Given the description of an element on the screen output the (x, y) to click on. 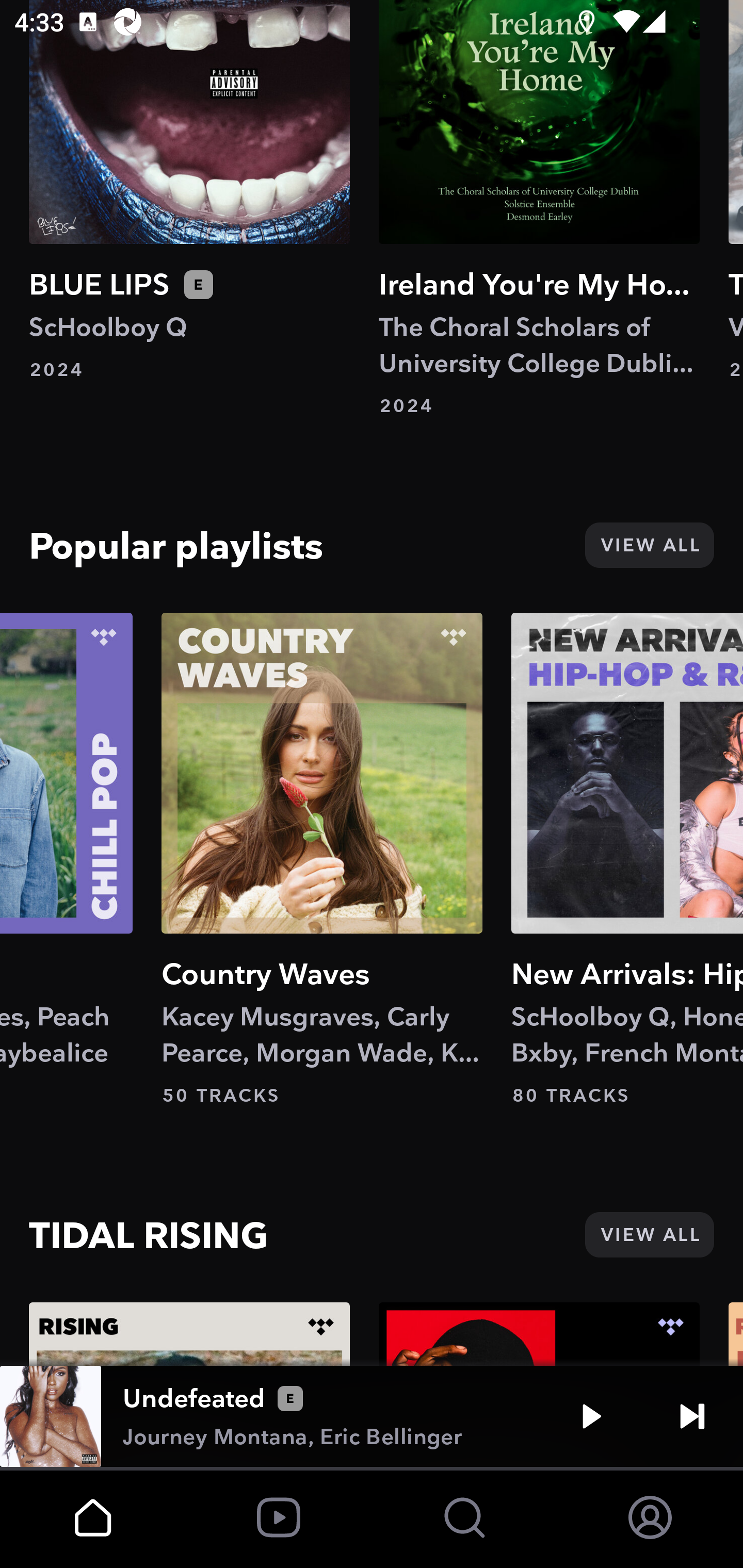
BLUE LIPS ScHoolboy Q 2024 (188, 190)
VIEW ALL (649, 544)
VIEW ALL (649, 1234)
Undefeated    Journey Montana, Eric Bellinger Play (371, 1416)
Play (590, 1416)
